Given the description of an element on the screen output the (x, y) to click on. 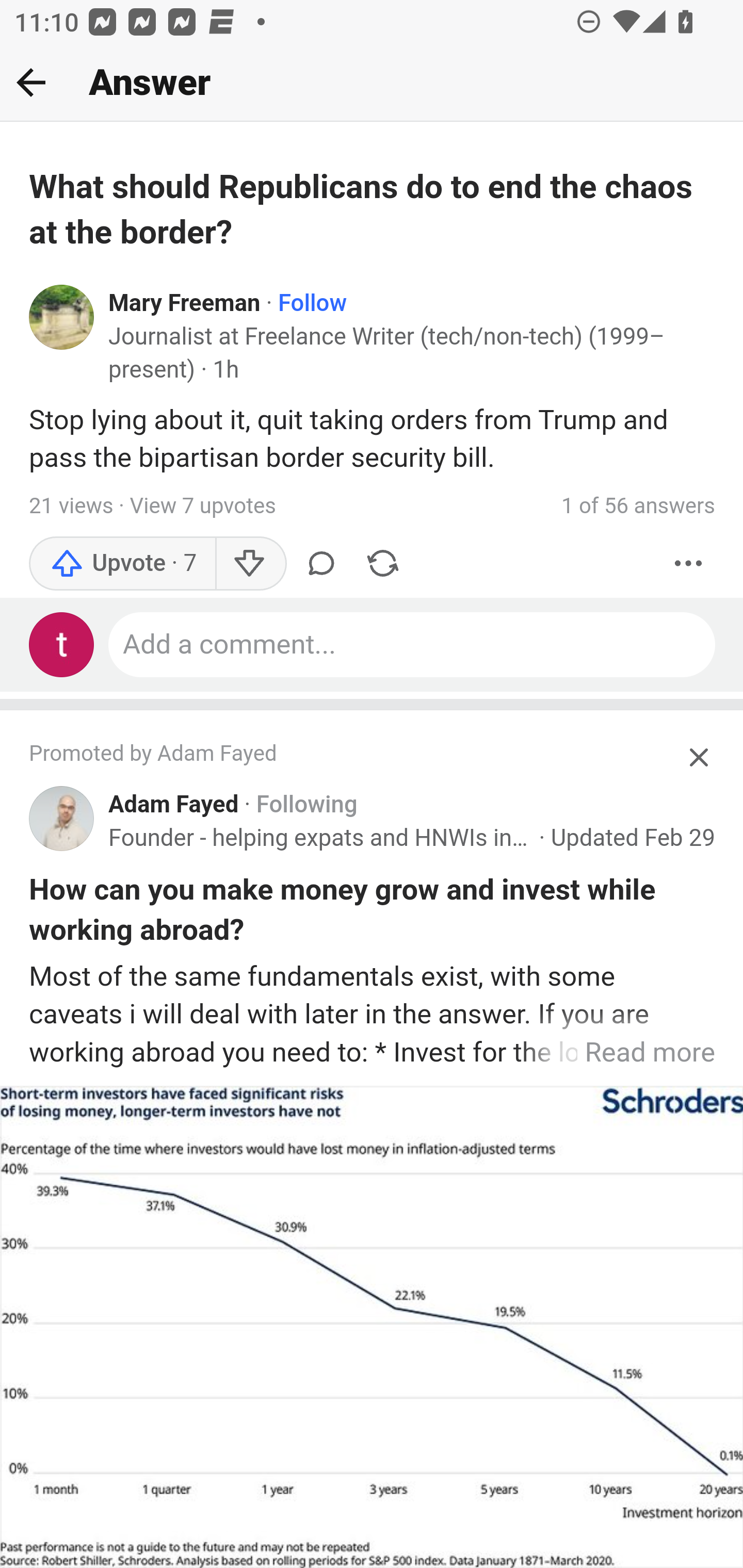
Back (30, 82)
Profile photo for Mary Freeman (61, 317)
Mary Freeman (184, 303)
Follow (312, 303)
View 7 upvotes (201, 505)
1 of 56 answers (637, 505)
Upvote (122, 562)
Downvote (249, 562)
Comment (321, 562)
Share (382, 562)
More (688, 562)
Profile photo for Test Appium (61, 643)
Add a comment... (412, 643)
Hide (699, 757)
Promoted by Adam Fayed (352, 755)
Profile photo for Adam Fayed (61, 818)
Adam Fayed (173, 804)
Following (306, 804)
